Given the description of an element on the screen output the (x, y) to click on. 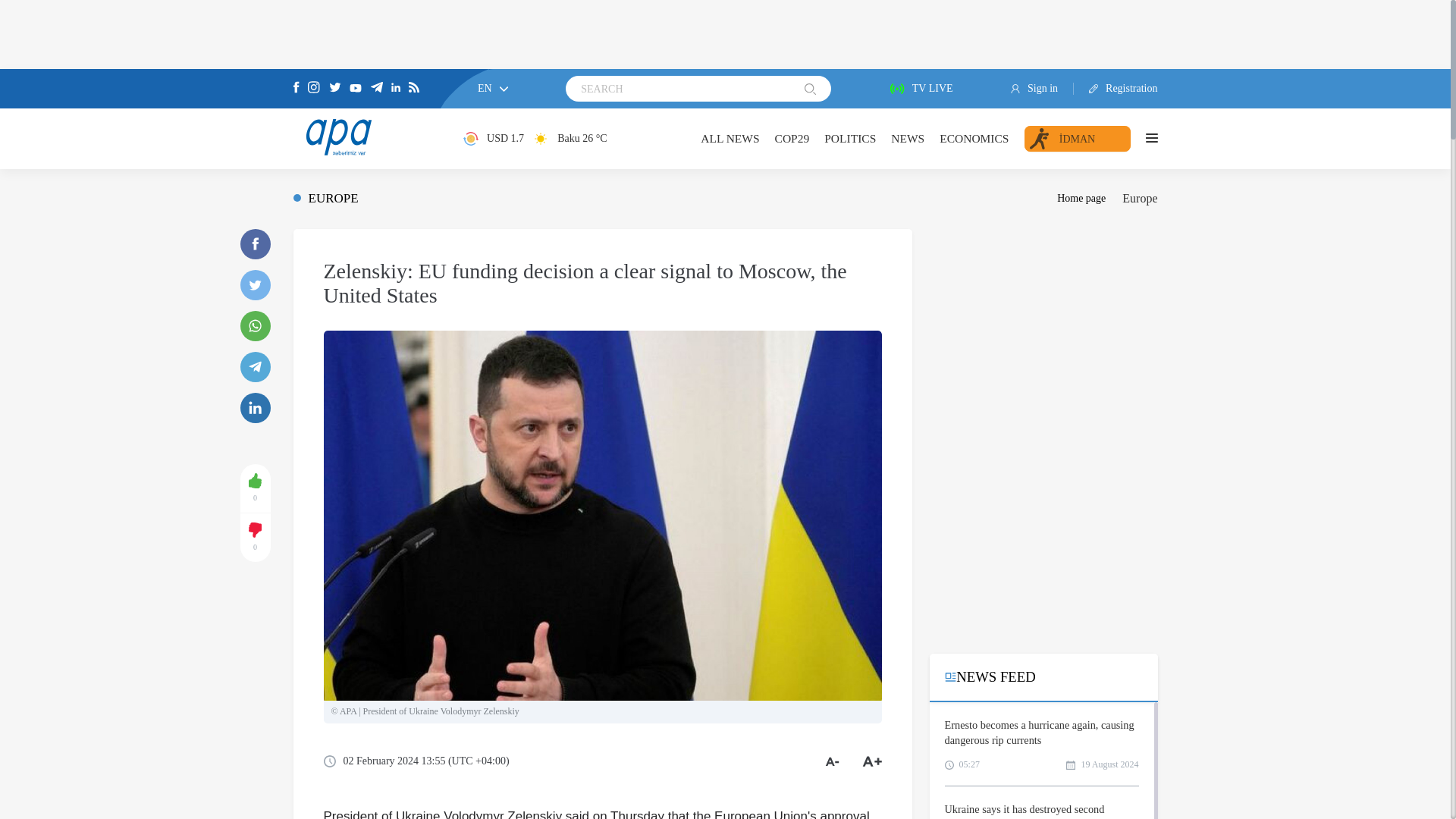
COP29 (791, 138)
Registration (1115, 88)
POLITICS (850, 138)
USD 1.7 (493, 138)
ALL NEWS (729, 138)
TV LIVE (921, 88)
NEWS (907, 138)
ECONOMICS (974, 138)
Sign in (1042, 88)
